Given the description of an element on the screen output the (x, y) to click on. 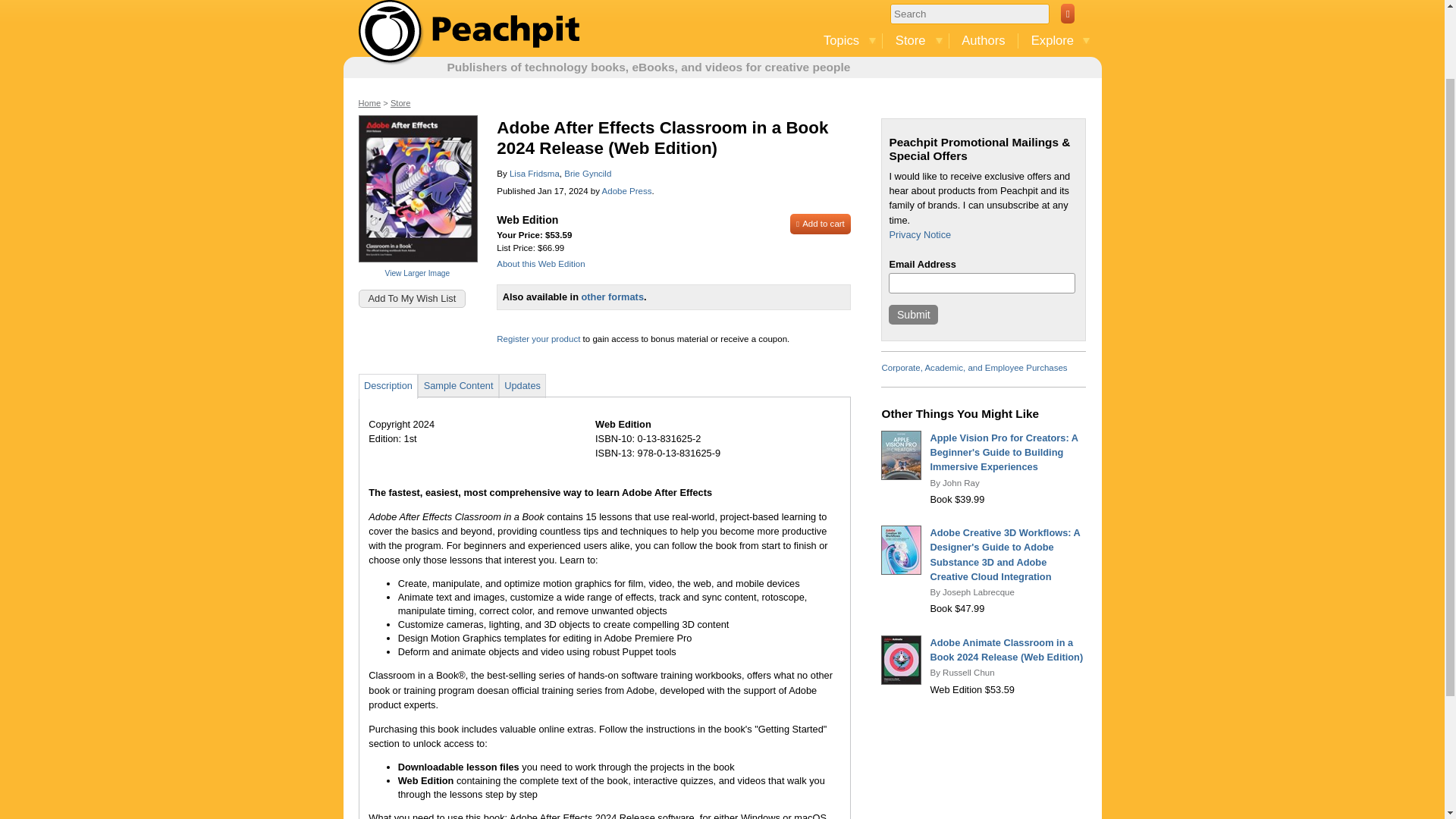
Home (472, 33)
Add To My Wish List (411, 298)
Sample Content (458, 385)
View Larger Image (417, 273)
Privacy Notice (919, 234)
Submit (912, 314)
About this Web Edition (540, 263)
Updates (521, 385)
John Ray (960, 482)
